Given the description of an element on the screen output the (x, y) to click on. 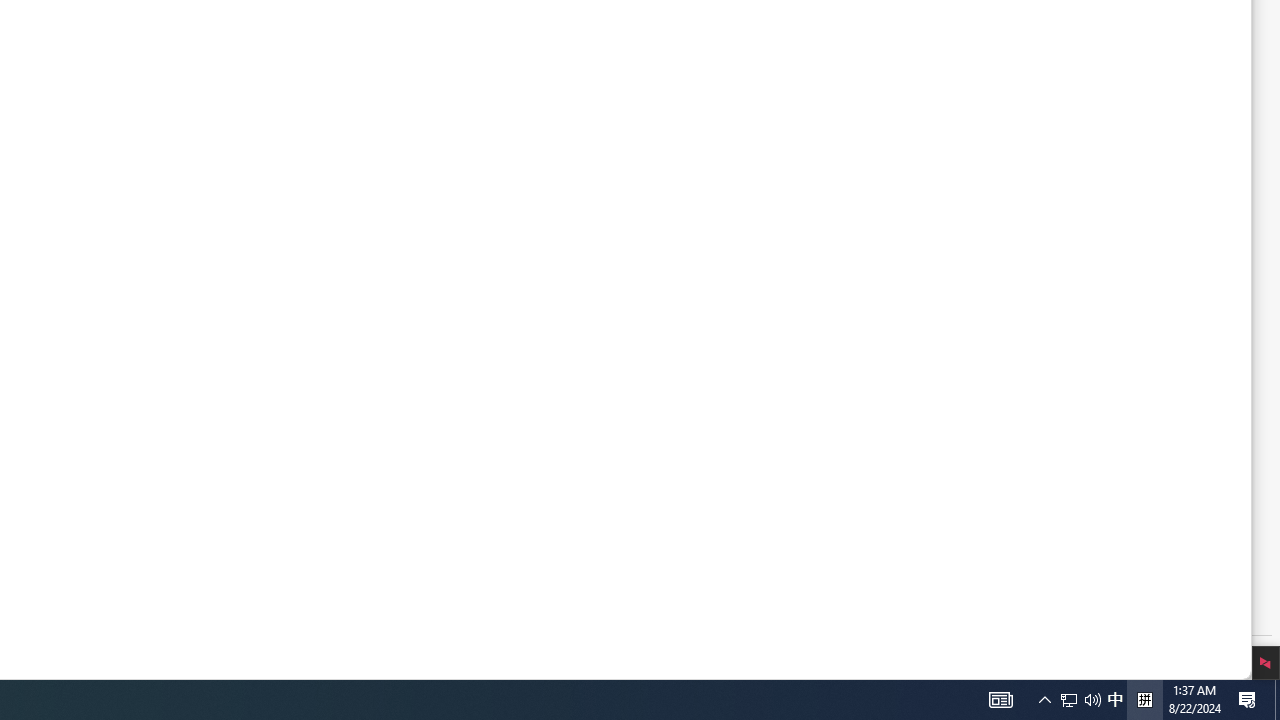
Cookies (77, 597)
Government relations (181, 384)
Policies (145, 432)
News (139, 312)
Discussion boards (466, 402)
Help, opens dialogs (1191, 632)
eBay Giving Works (505, 425)
Contact us (445, 312)
Discussion boards (505, 402)
Seller Information Center (505, 288)
eBay sites,United States (493, 522)
Government relations (230, 384)
Help & Contact (460, 263)
Investors (230, 335)
